Given the description of an element on the screen output the (x, y) to click on. 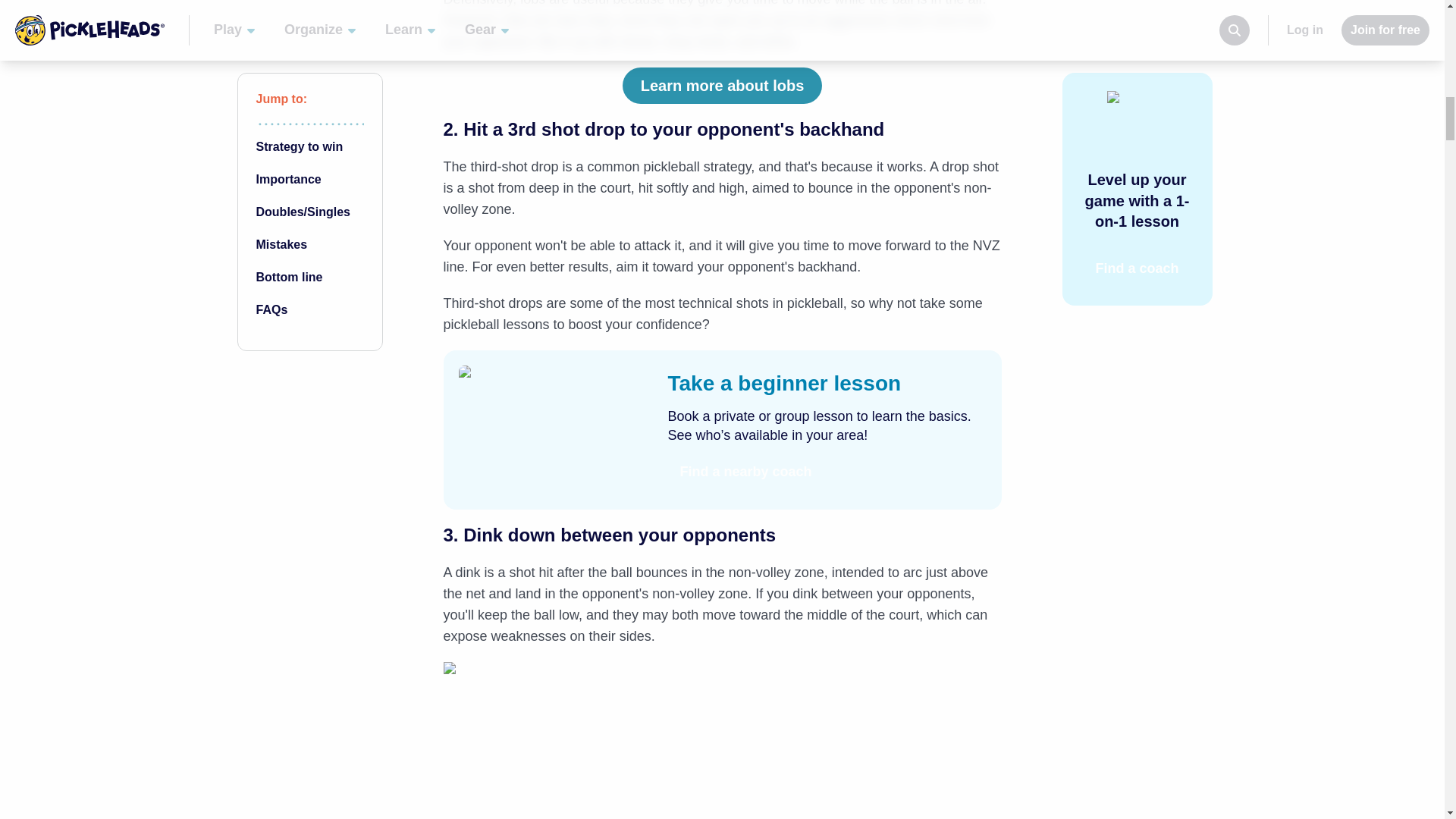
Learn more about lobs (722, 85)
An ongoing pickleball doubles game (721, 740)
Find a nearby coach (745, 472)
